Given the description of an element on the screen output the (x, y) to click on. 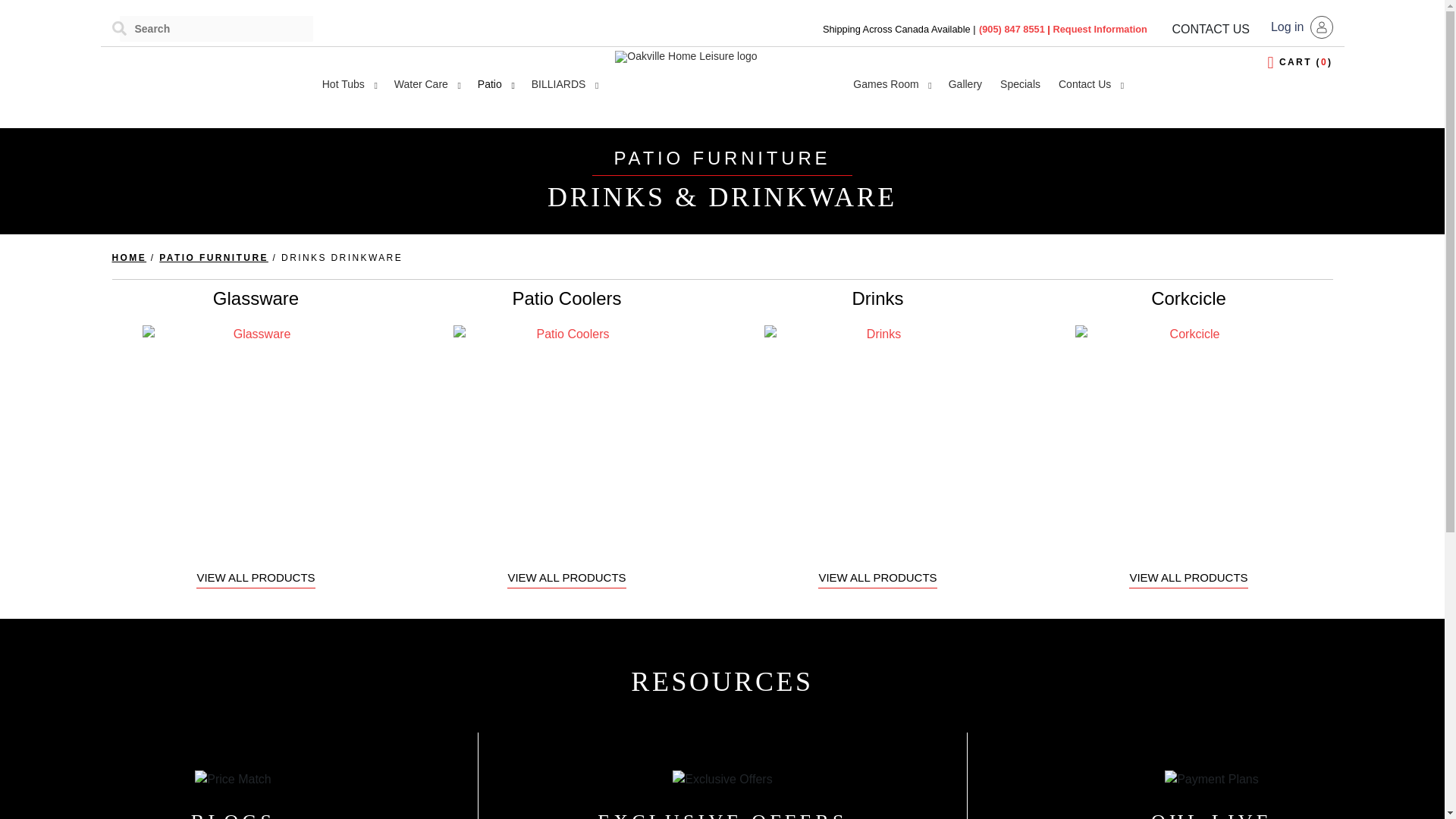
Patio (495, 85)
Log in (1302, 26)
CONTACT US (1210, 29)
Search for: (216, 28)
Hot Tubs (349, 85)
Request Information (1099, 29)
Water Care (426, 85)
